Given the description of an element on the screen output the (x, y) to click on. 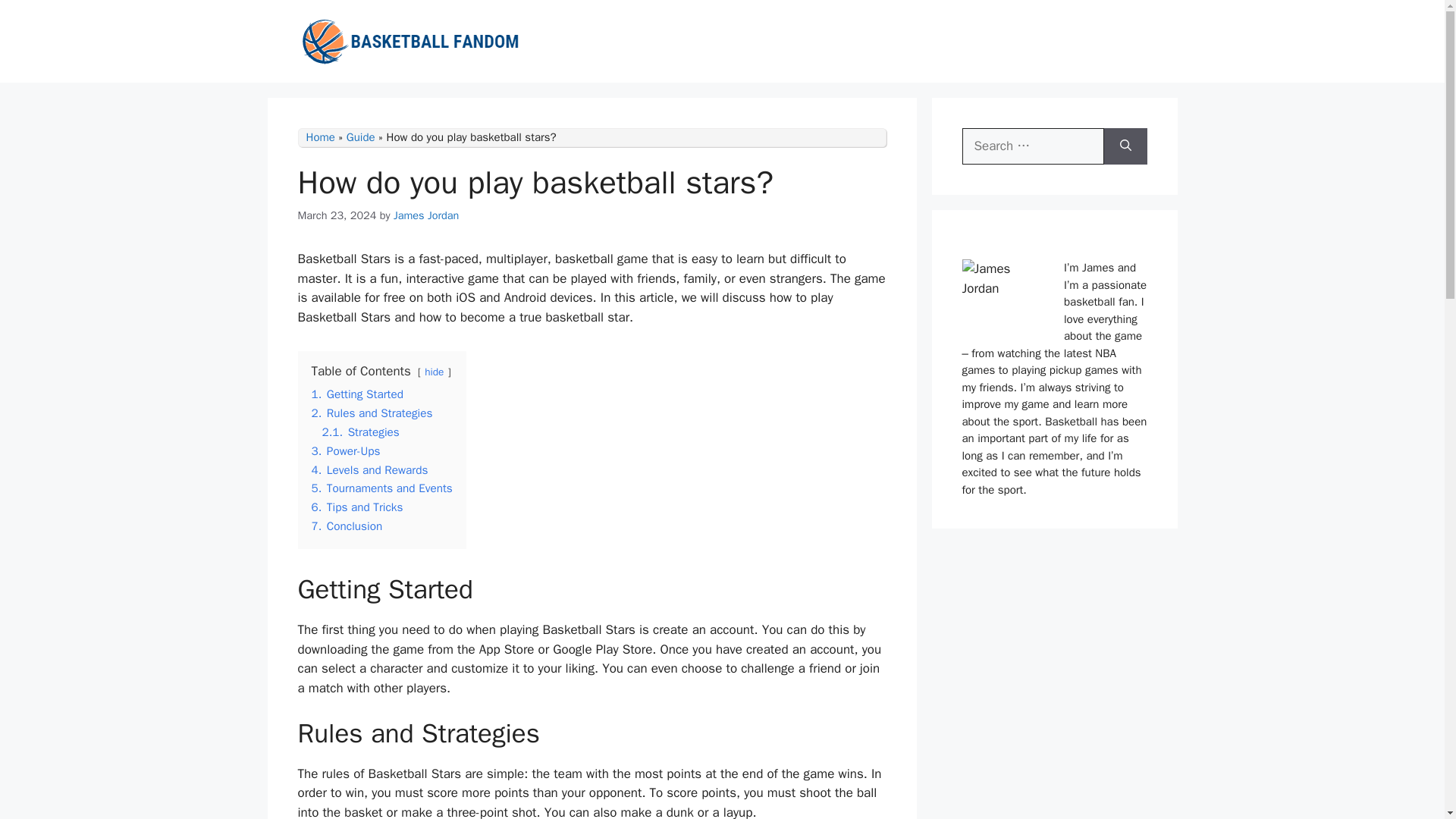
James Jordan (426, 214)
1. Getting Started (357, 394)
Search for: (1031, 145)
Home (319, 137)
4. Levels and Rewards (369, 469)
6. Tips and Tricks (357, 507)
7. Conclusion (346, 525)
5. Tournaments and Events (381, 488)
View all posts by James Jordan (426, 214)
2.1. Strategies (359, 432)
2. Rules and Strategies (371, 412)
Guide (360, 137)
3. Power-Ups (345, 450)
hide (434, 371)
